Given the description of an element on the screen output the (x, y) to click on. 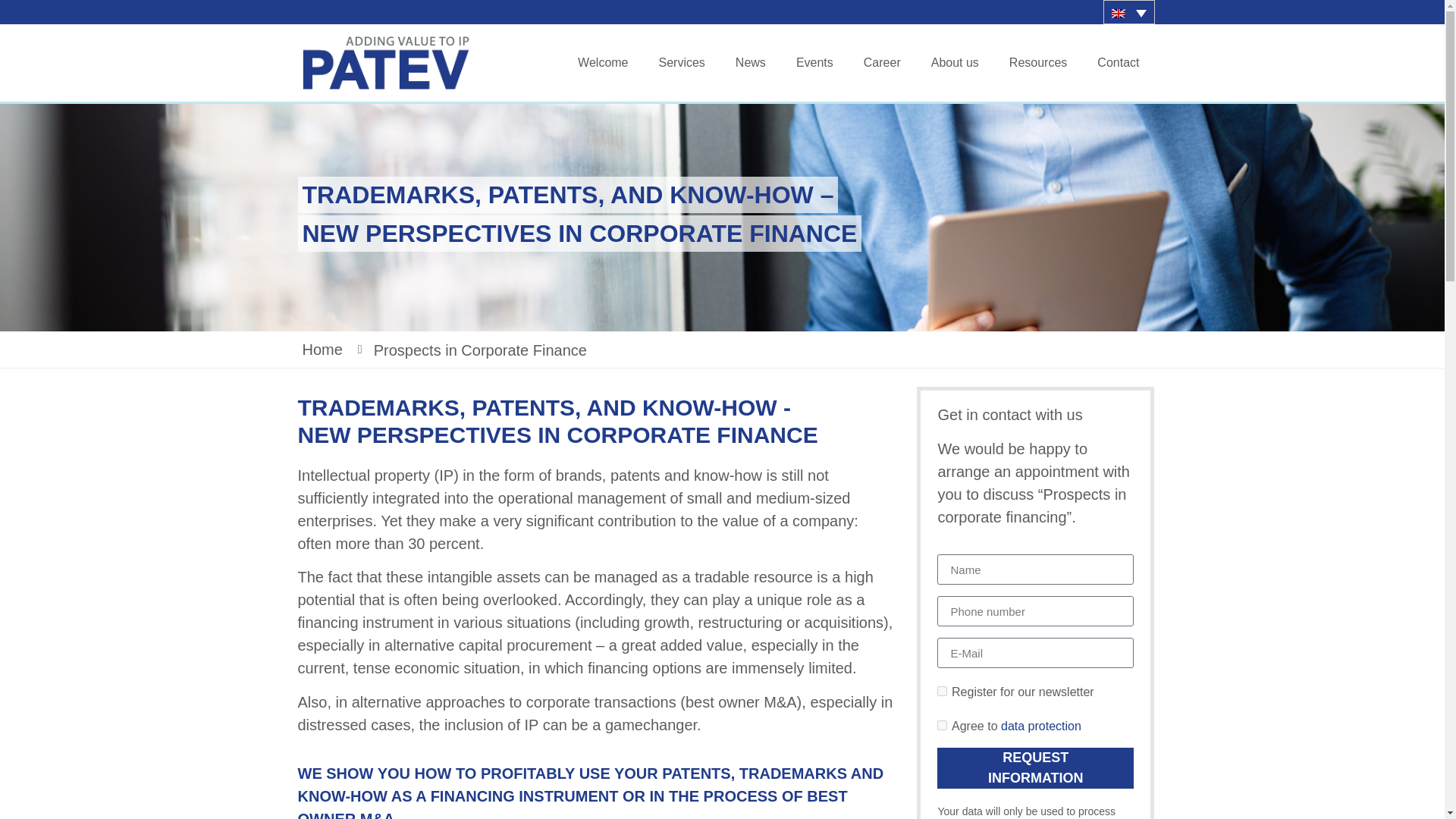
Welcome (602, 62)
data protection (1041, 725)
About us (954, 62)
Resources (1037, 62)
Services (681, 62)
REQUEST INFORMATION (1035, 767)
on (942, 691)
Contact (1117, 62)
Home (333, 349)
on (942, 725)
